Given the description of an element on the screen output the (x, y) to click on. 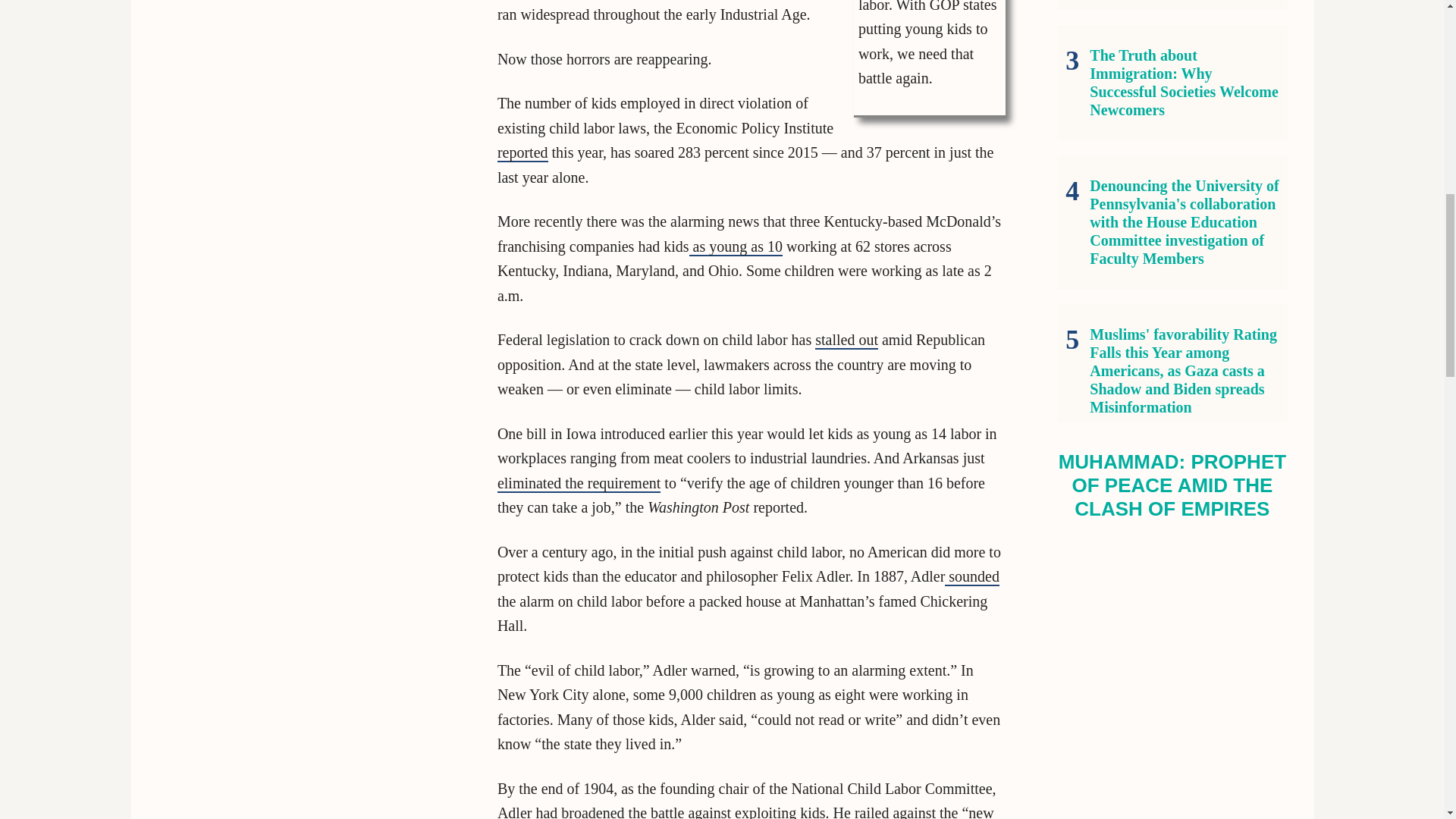
stalled out (846, 340)
as young as 10 (735, 247)
railed (869, 811)
sounded (971, 577)
reported (664, 165)
eliminated the requirement (579, 484)
